Given the description of an element on the screen output the (x, y) to click on. 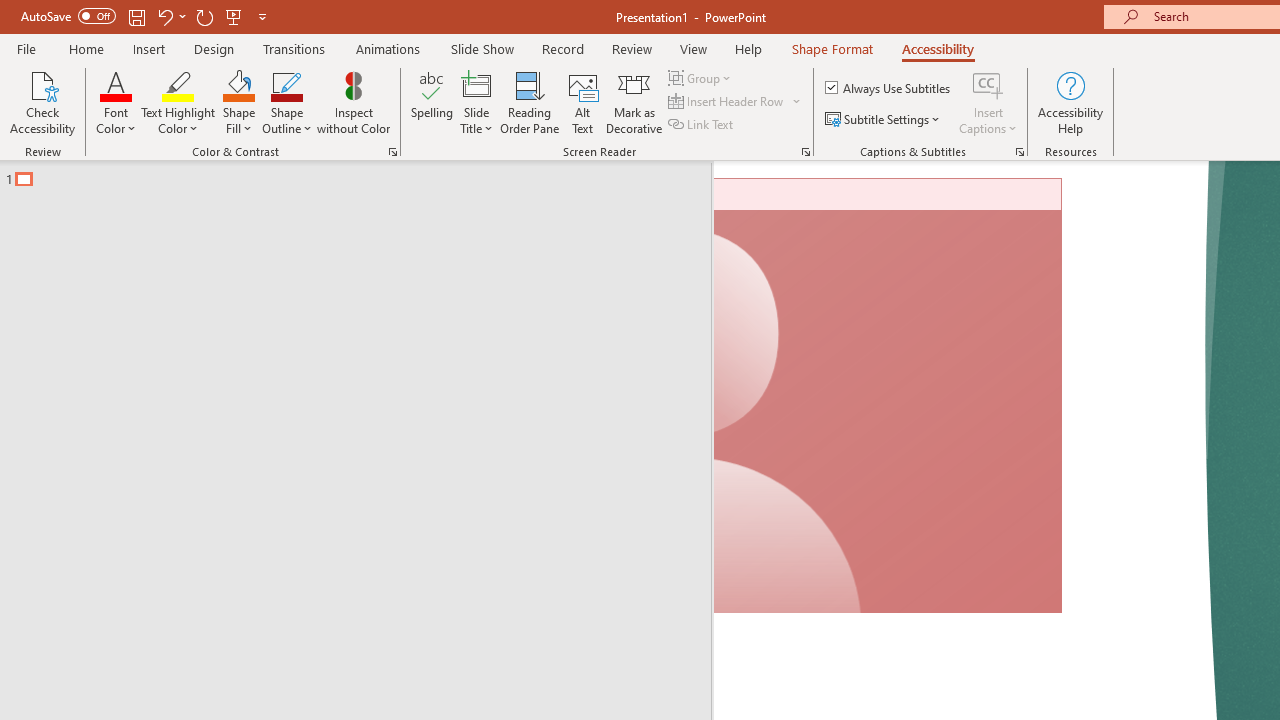
Color & Contrast (392, 151)
Screen Reader (805, 151)
Subtitle Settings (884, 119)
